Given the description of an element on the screen output the (x, y) to click on. 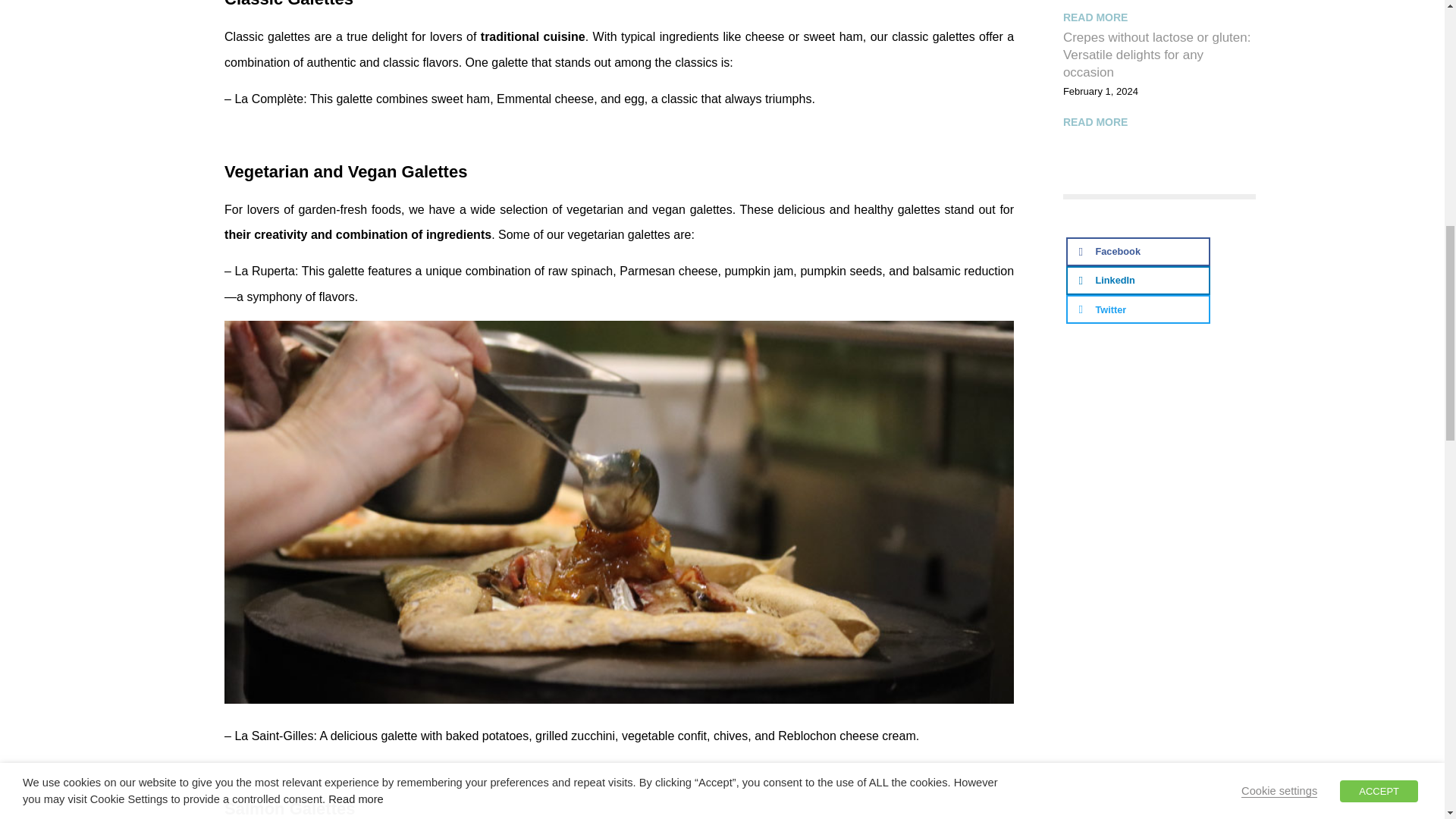
READ MORE (1095, 17)
READ MORE (1095, 121)
